Given the description of an element on the screen output the (x, y) to click on. 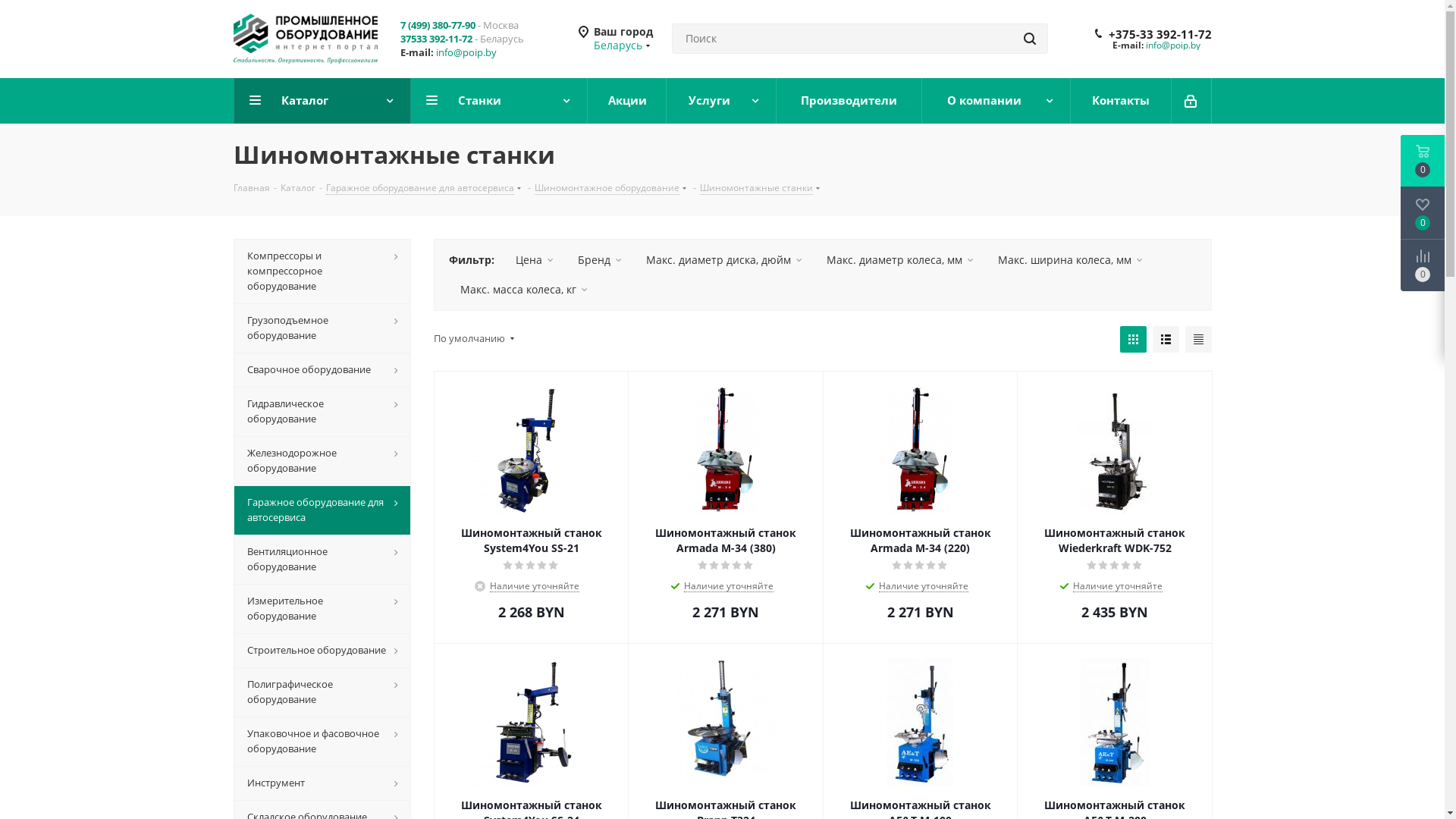
1 Element type: hover (897, 565)
1 Element type: hover (703, 565)
M-34 (380) Element type: hover (725, 449)
1 Element type: hover (1092, 565)
2 Element type: hover (519, 565)
4 Element type: hover (737, 565)
M-200 Element type: hover (1114, 722)
4 Element type: hover (931, 565)
info@poip.by Element type: text (1172, 44)
WDK-752 Element type: hover (1114, 449)
3 Element type: hover (530, 565)
M-34 (220) Element type: hover (920, 449)
SS-21 Element type: hover (531, 449)
2 Element type: hover (714, 565)
1 Element type: hover (508, 565)
+375-33 392-11-72 Element type: text (1159, 33)
4 Element type: hover (1126, 565)
7 (499) 380-77-90 Element type: text (437, 24)
3 Element type: hover (919, 565)
SS-24 Element type: hover (531, 722)
4 Element type: hover (542, 565)
37533 392-11-72 Element type: text (436, 38)
3 Element type: hover (1114, 565)
M-100 Element type: hover (920, 722)
5 Element type: hover (748, 565)
3 Element type: hover (725, 565)
2 Element type: hover (908, 565)
2 Element type: hover (1103, 565)
5 Element type: hover (942, 565)
T324 Element type: hover (725, 722)
info@poip.by Element type: text (465, 52)
5 Element type: hover (1137, 565)
5 Element type: hover (553, 565)
